Given the description of an element on the screen output the (x, y) to click on. 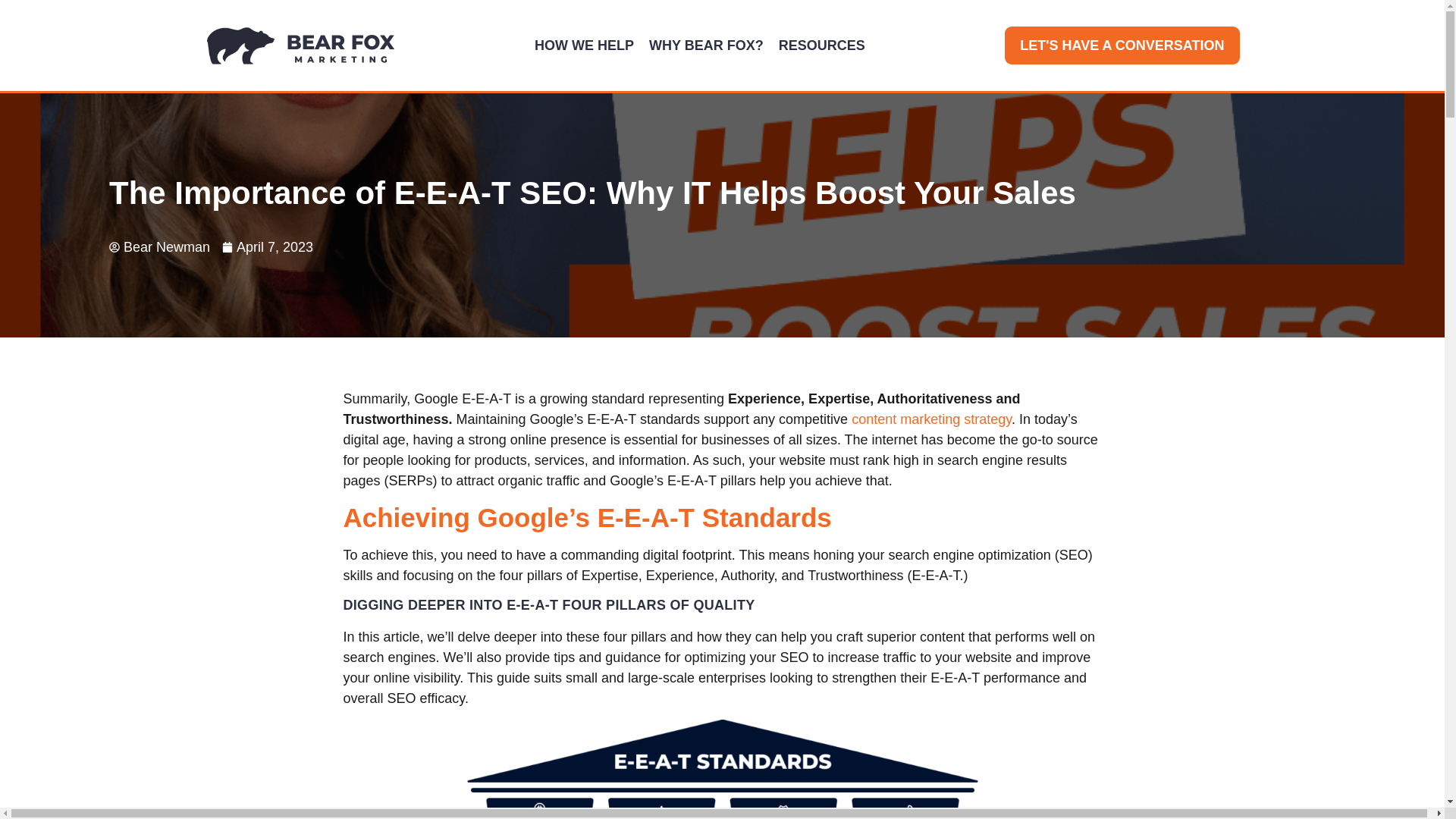
WHY BEAR FOX? (706, 45)
HOW WE HELP (584, 45)
RESOURCES (821, 45)
